Given the description of an element on the screen output the (x, y) to click on. 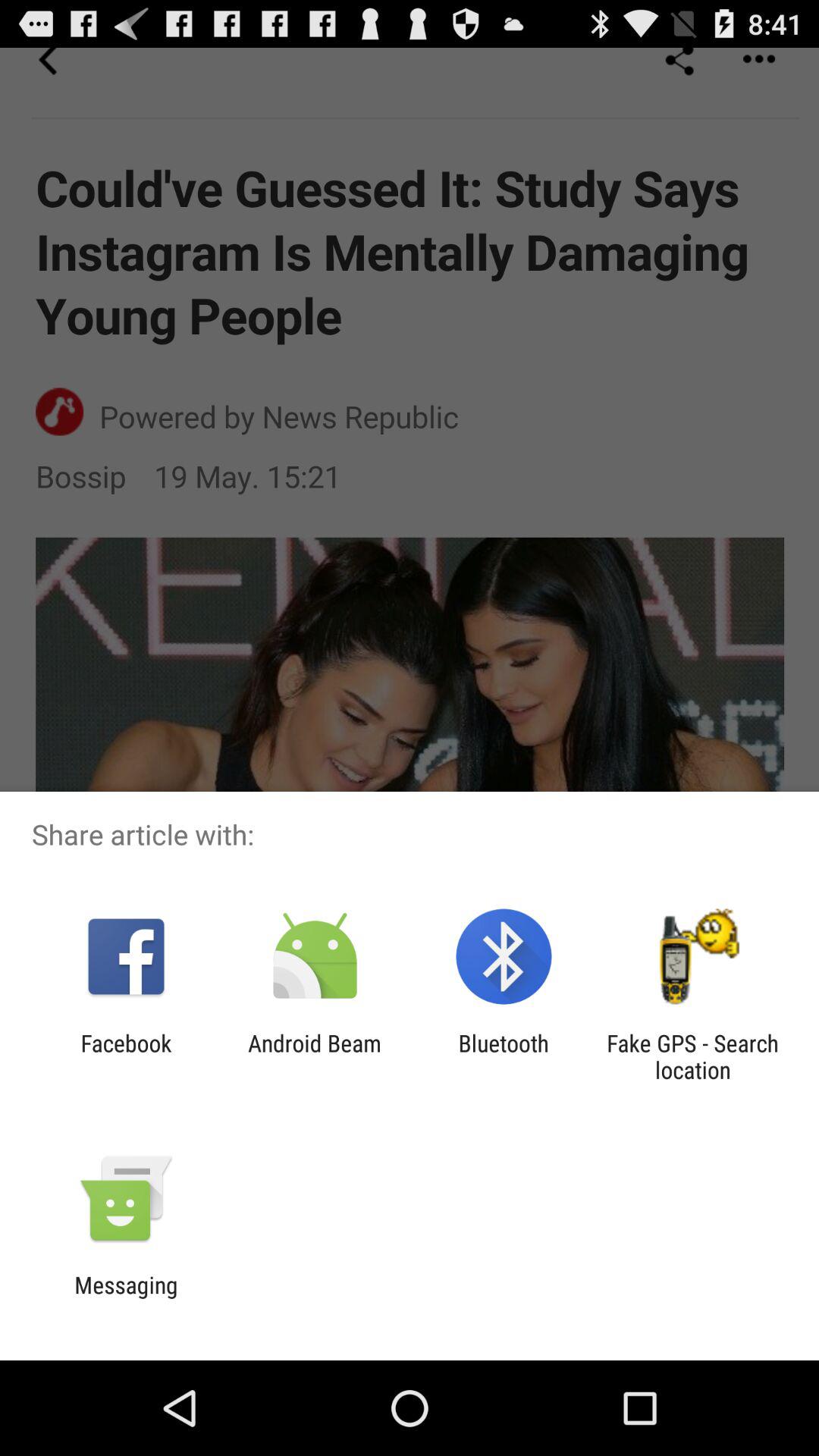
click app to the right of facebook app (314, 1056)
